Given the description of an element on the screen output the (x, y) to click on. 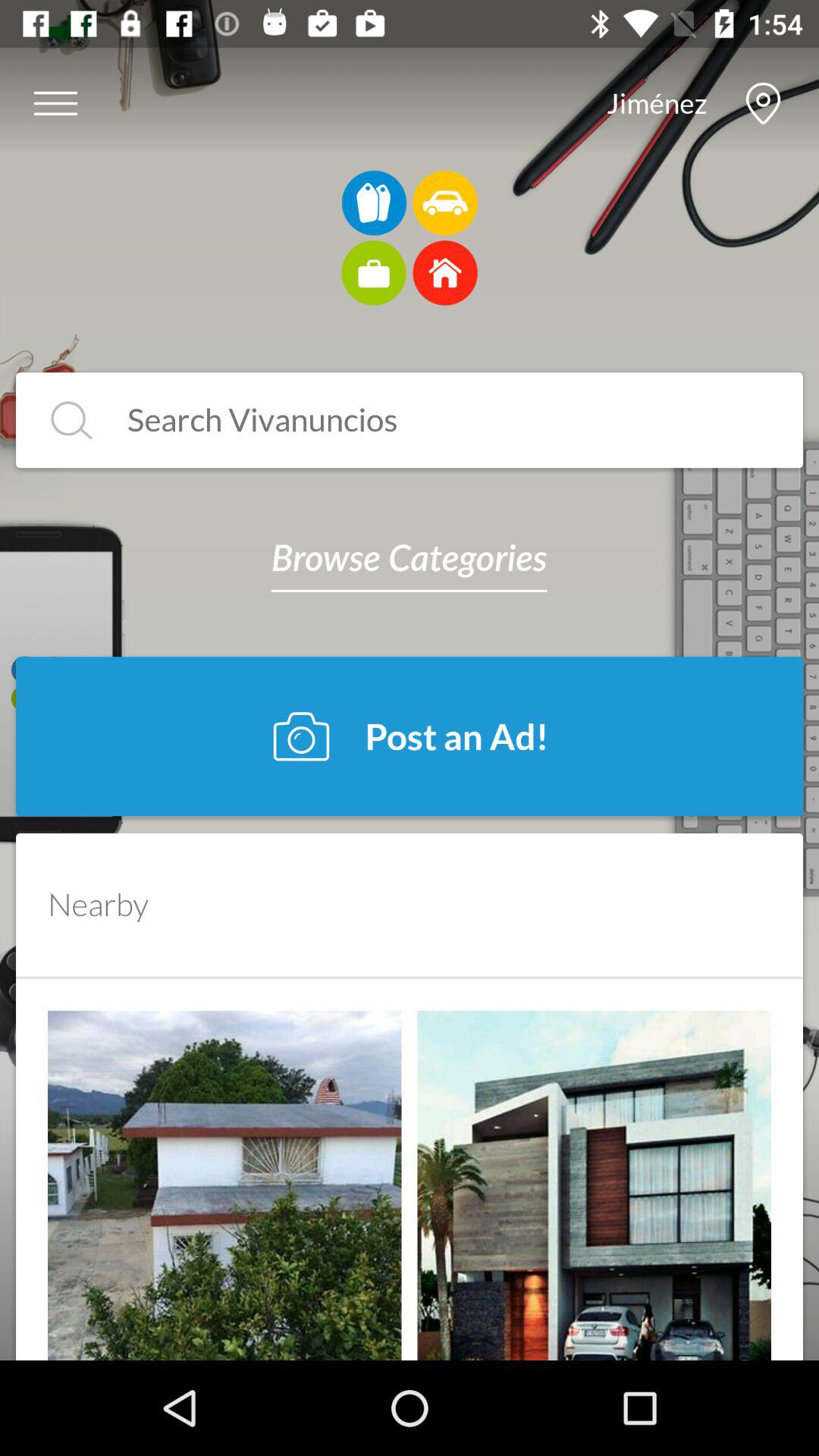
search button (71, 420)
